Given the description of an element on the screen output the (x, y) to click on. 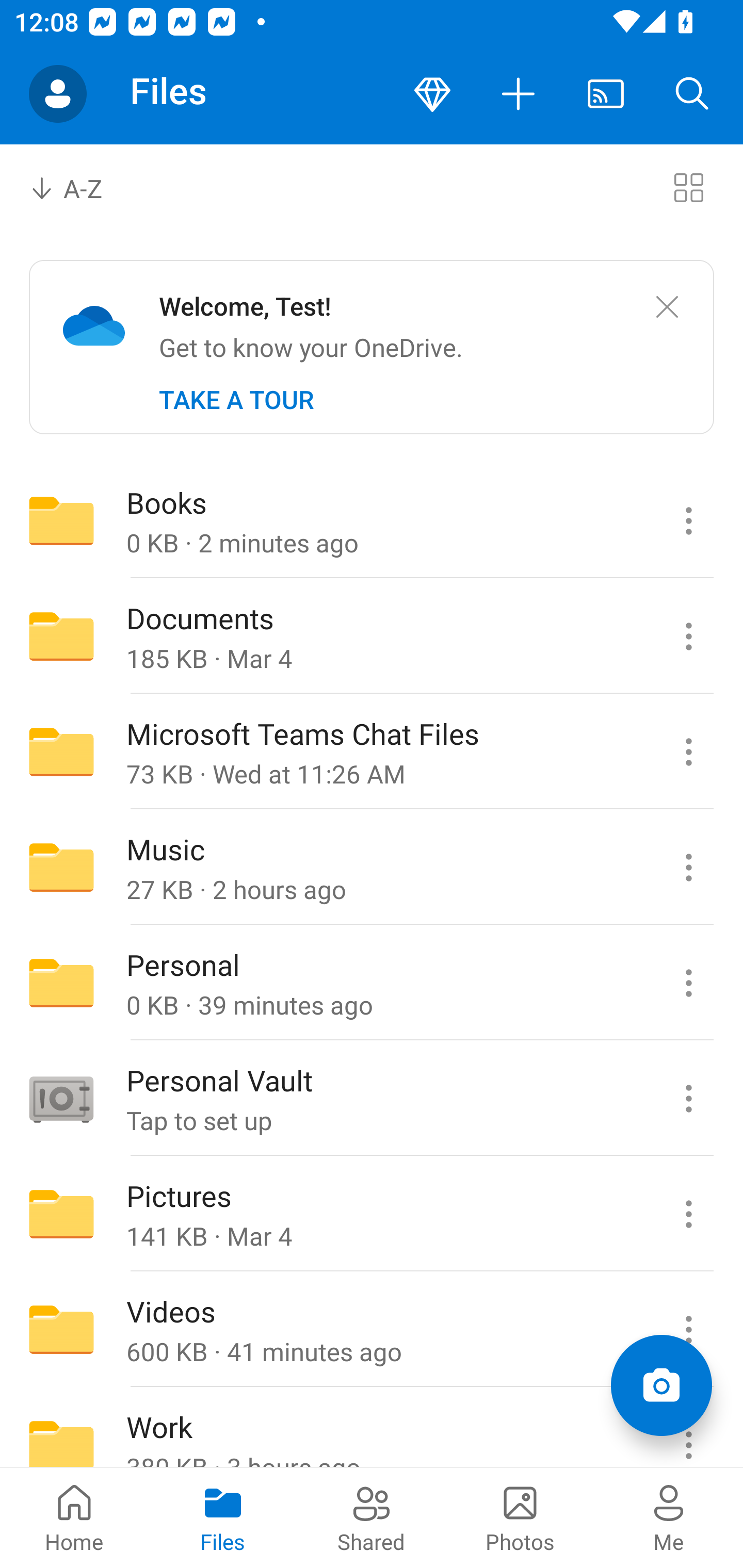
Account switcher (57, 93)
Cast. Disconnected (605, 93)
Premium button (432, 93)
More actions button (518, 93)
Search button (692, 93)
A-Z Sort by combo box, sort by name, A to Z (80, 187)
Switch to tiles view (688, 187)
Close (667, 307)
TAKE A TOUR (236, 399)
Folder Books 0 KB · 2 minutes ago Books commands (371, 520)
Books commands (688, 520)
Folder Documents 185 KB · Mar 4 Documents commands (371, 636)
Documents commands (688, 636)
Microsoft Teams Chat Files commands (688, 751)
Folder Music 27 KB · 2 hours ago Music commands (371, 867)
Music commands (688, 867)
Personal commands (688, 983)
Personal Vault commands (688, 1099)
Folder Pictures 141 KB · Mar 4 Pictures commands (371, 1214)
Pictures commands (688, 1214)
Videos commands (688, 1329)
Add items Scan (660, 1385)
Folder Work 380 KB · 3 hours ago Work commands (371, 1427)
Work commands (688, 1427)
Home pivot Home (74, 1517)
Shared pivot Shared (371, 1517)
Photos pivot Photos (519, 1517)
Me pivot Me (668, 1517)
